Given the description of an element on the screen output the (x, y) to click on. 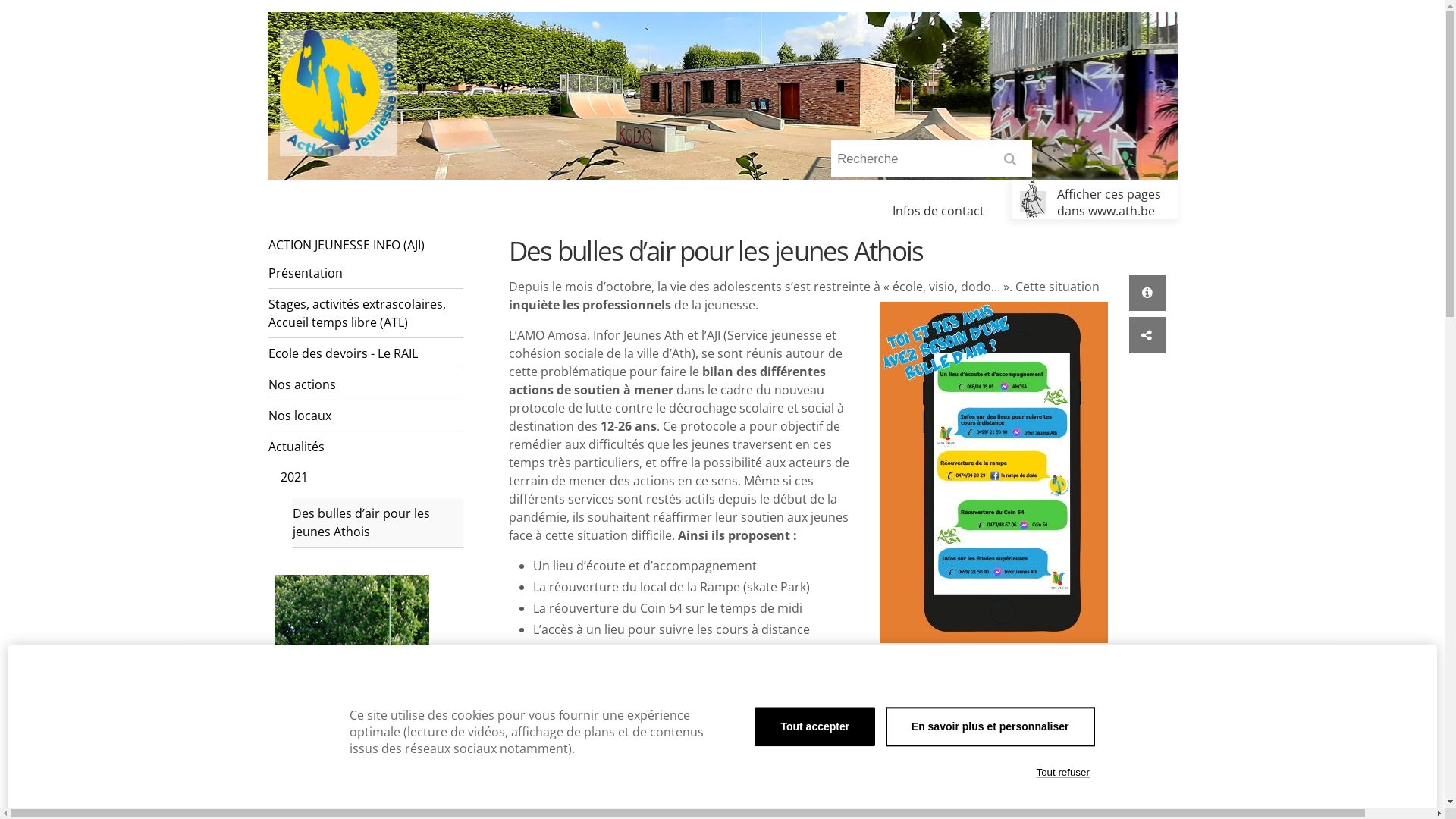
Tout refuser Element type: text (1063, 772)
2021 Element type: text (371, 476)
afficheAJI Element type: hover (993, 472)
En savoir plus et personnaliser Element type: text (990, 726)
Rechercher Element type: text (1013, 163)
Afficher ces pages dans www.ath.be Element type: text (1094, 199)
Nos actions Element type: text (365, 384)
Recherche Element type: hover (931, 158)
ACTION JEUNESSE INFO (AJI) Element type: text (365, 244)
Infos de contact Element type: text (938, 210)
Ecole des devoirs - Le RAIL Element type: text (365, 353)
Tout accepter Element type: text (814, 726)
Nos locaux Element type: text (365, 415)
